Given the description of an element on the screen output the (x, y) to click on. 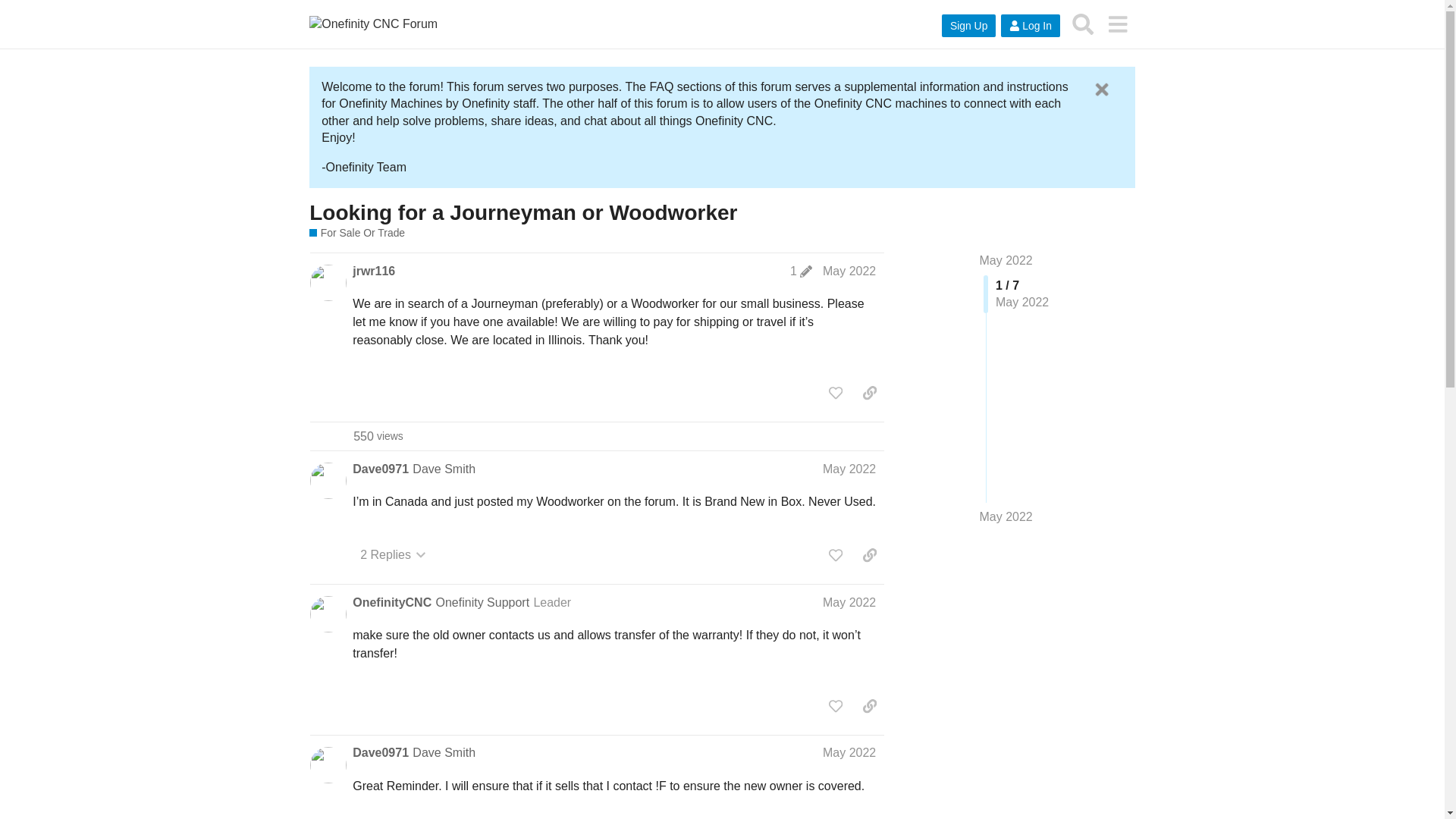
Looking for a Journeyman or Woodworker (522, 212)
Dave0971 (380, 469)
Sign Up (968, 25)
May 2022 (849, 270)
For Sale Or Trade (356, 233)
Log In (1030, 25)
Search (1082, 23)
Dave0971 (380, 752)
May 2022 (849, 602)
